Given the description of an element on the screen output the (x, y) to click on. 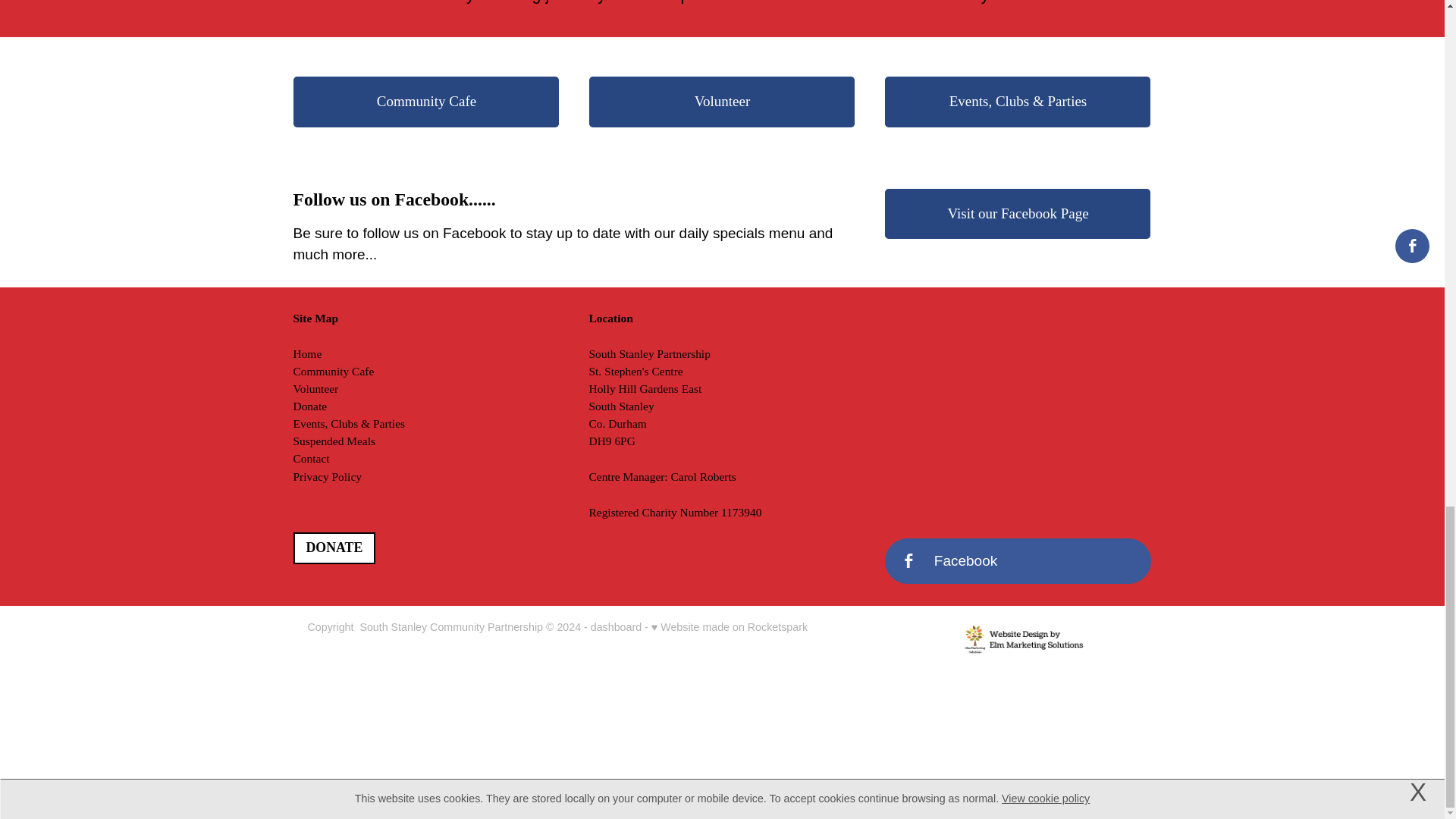
DONATE (333, 548)
dashboard (616, 626)
Donate (309, 405)
Visit our Facebook Page (1017, 214)
Volunteer (721, 101)
Volunteer (314, 388)
Facebook (1017, 561)
Contact (310, 458)
A link to this website's Facebook. (1017, 561)
Community Cafe (426, 101)
Suspended Meals (333, 440)
Home (306, 353)
Community Cafe (333, 370)
